Given the description of an element on the screen output the (x, y) to click on. 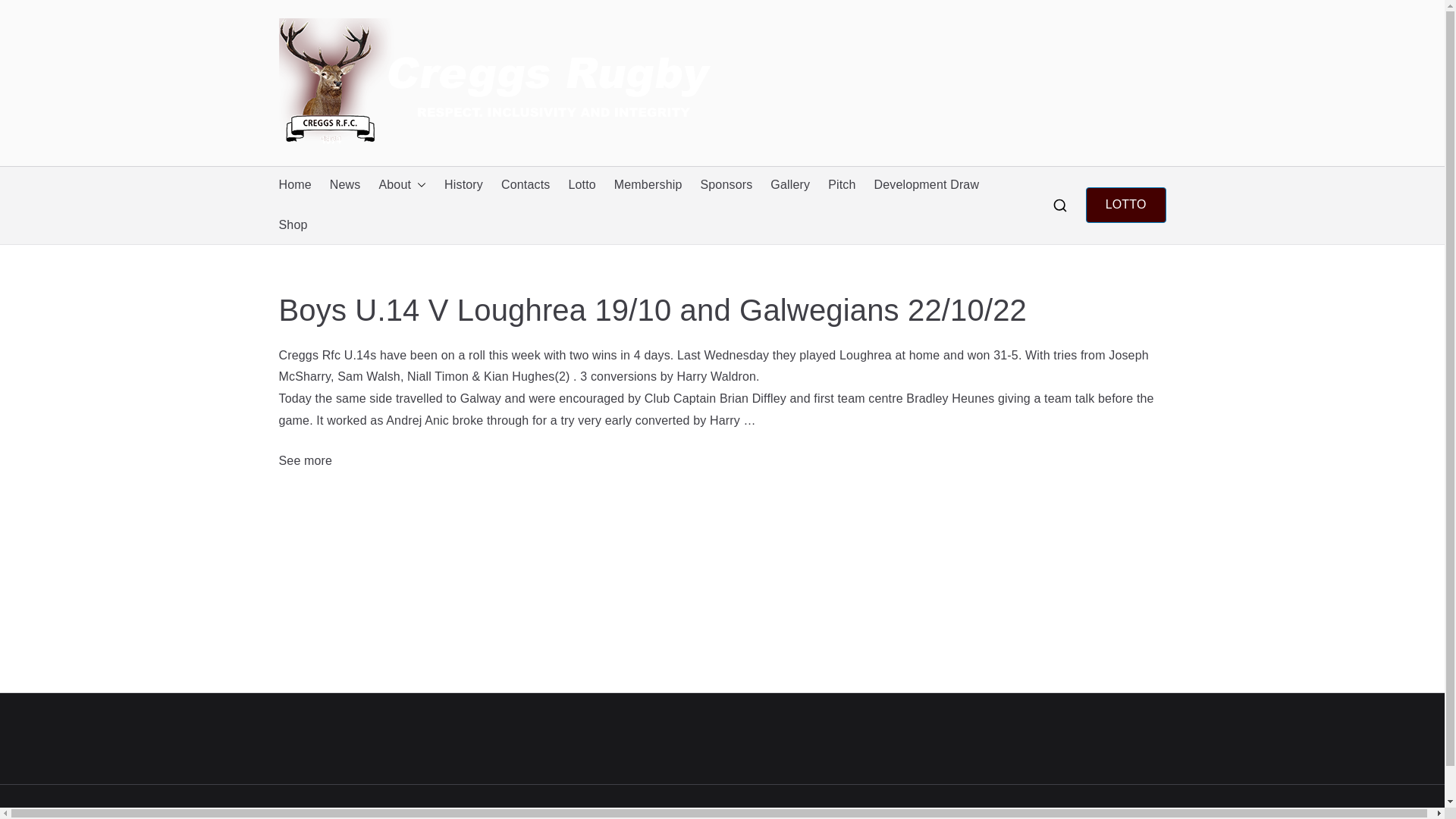
LOTTO (1126, 204)
Development Draw (927, 185)
Home (295, 185)
Search (26, 12)
About (402, 185)
Lotto (581, 185)
Pitch (842, 185)
News (345, 185)
Zakra (799, 811)
Contacts (525, 185)
Membership (648, 185)
BlockArt (857, 811)
History (463, 185)
Creggs Rugby (684, 811)
Sponsors (726, 185)
